Given the description of an element on the screen output the (x, y) to click on. 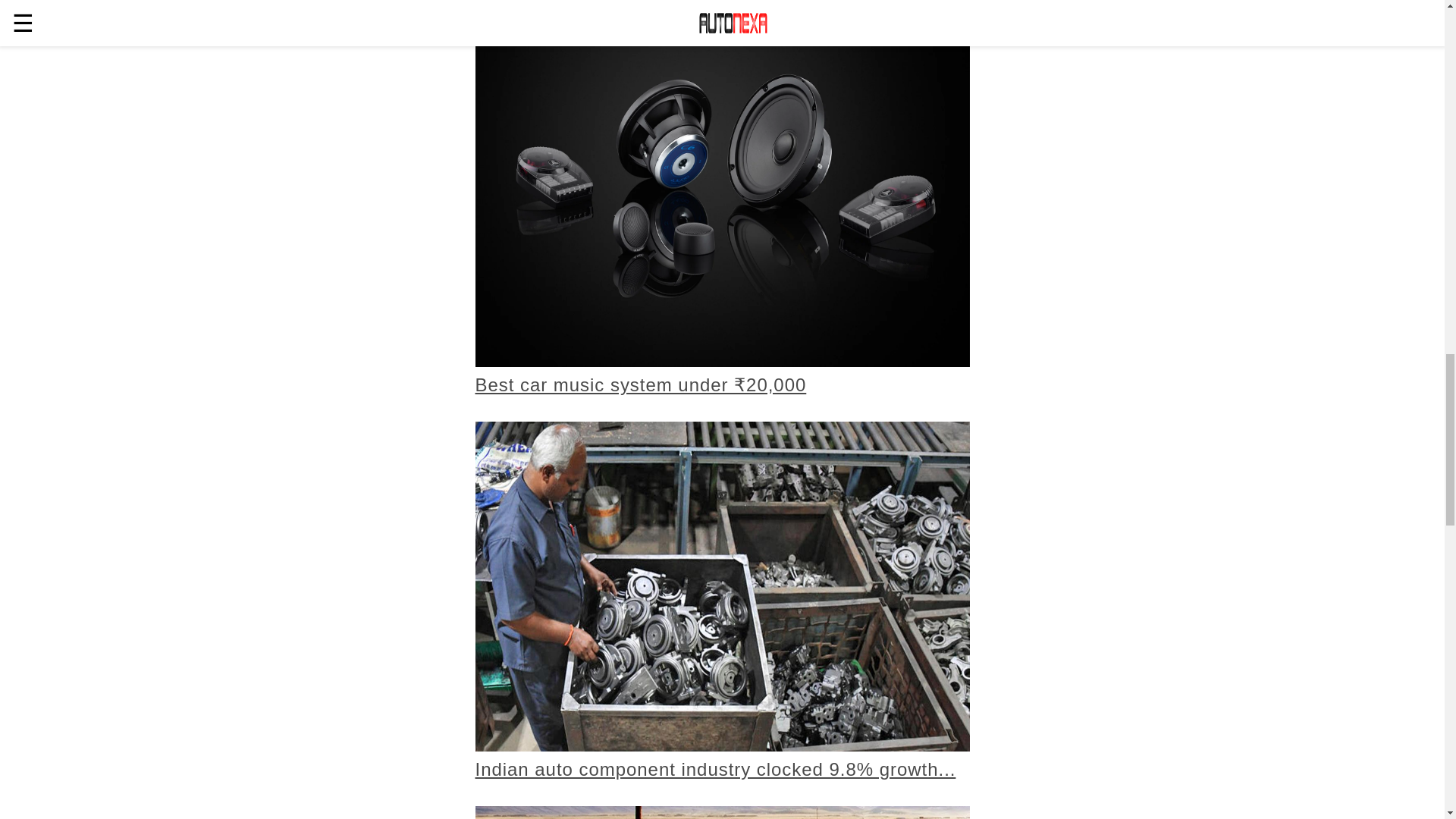
Elevate Your Driving Experience with Essential Car... (721, 812)
